Given the description of an element on the screen output the (x, y) to click on. 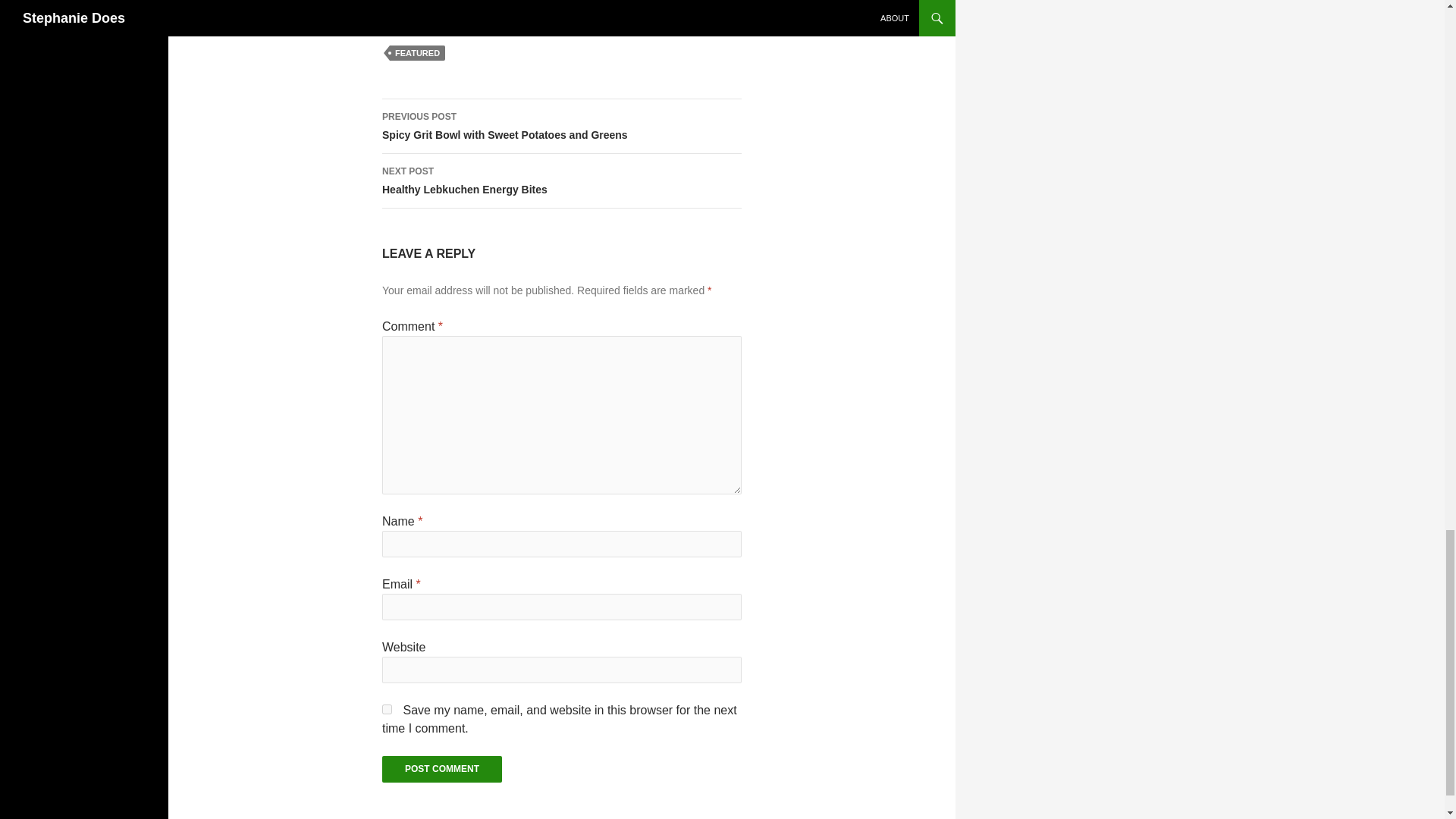
Post Comment (441, 768)
yes (386, 709)
FEATURED (417, 52)
Post Comment (561, 180)
